Given the description of an element on the screen output the (x, y) to click on. 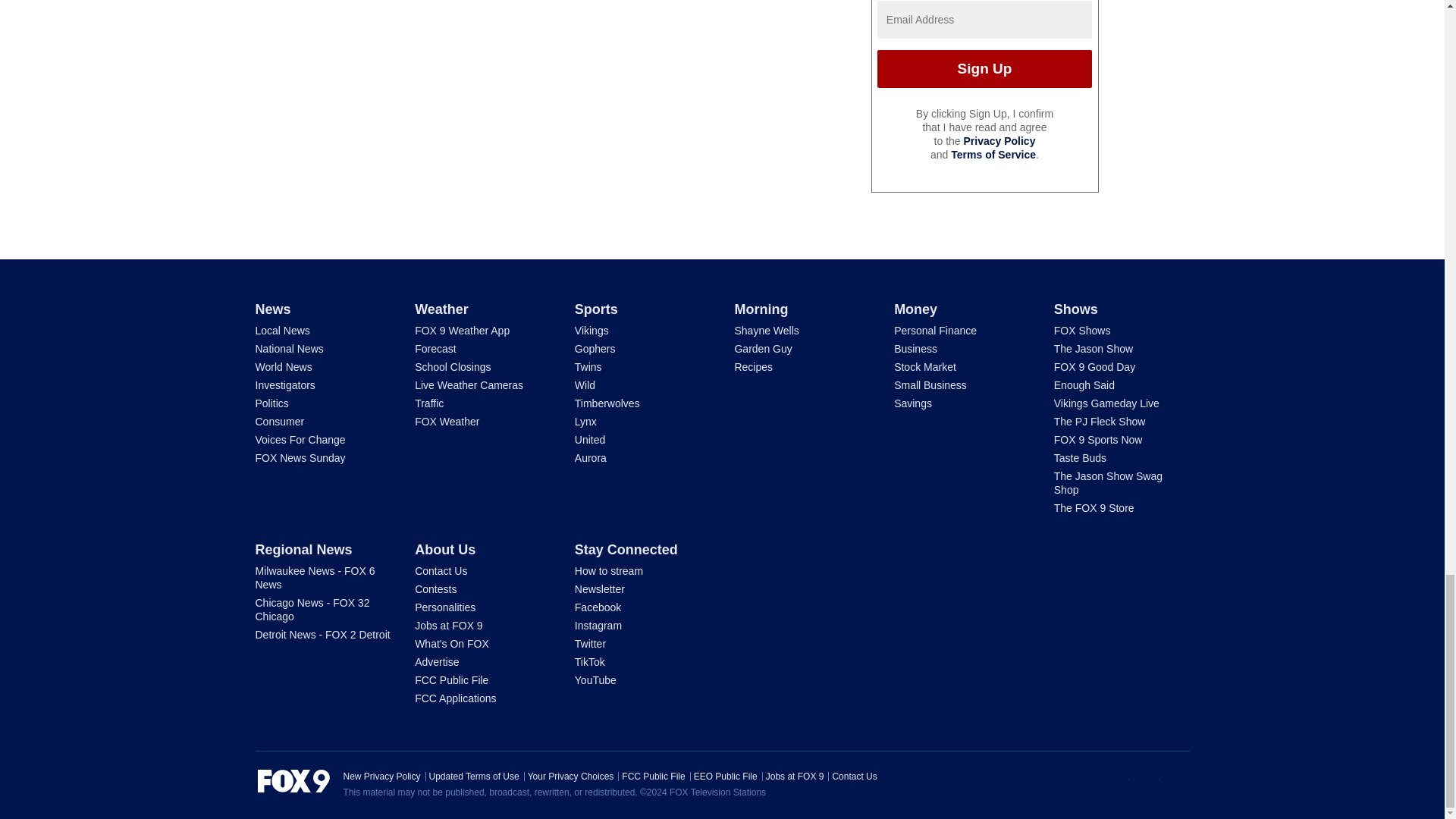
Sign Up (984, 68)
